Given the description of an element on the screen output the (x, y) to click on. 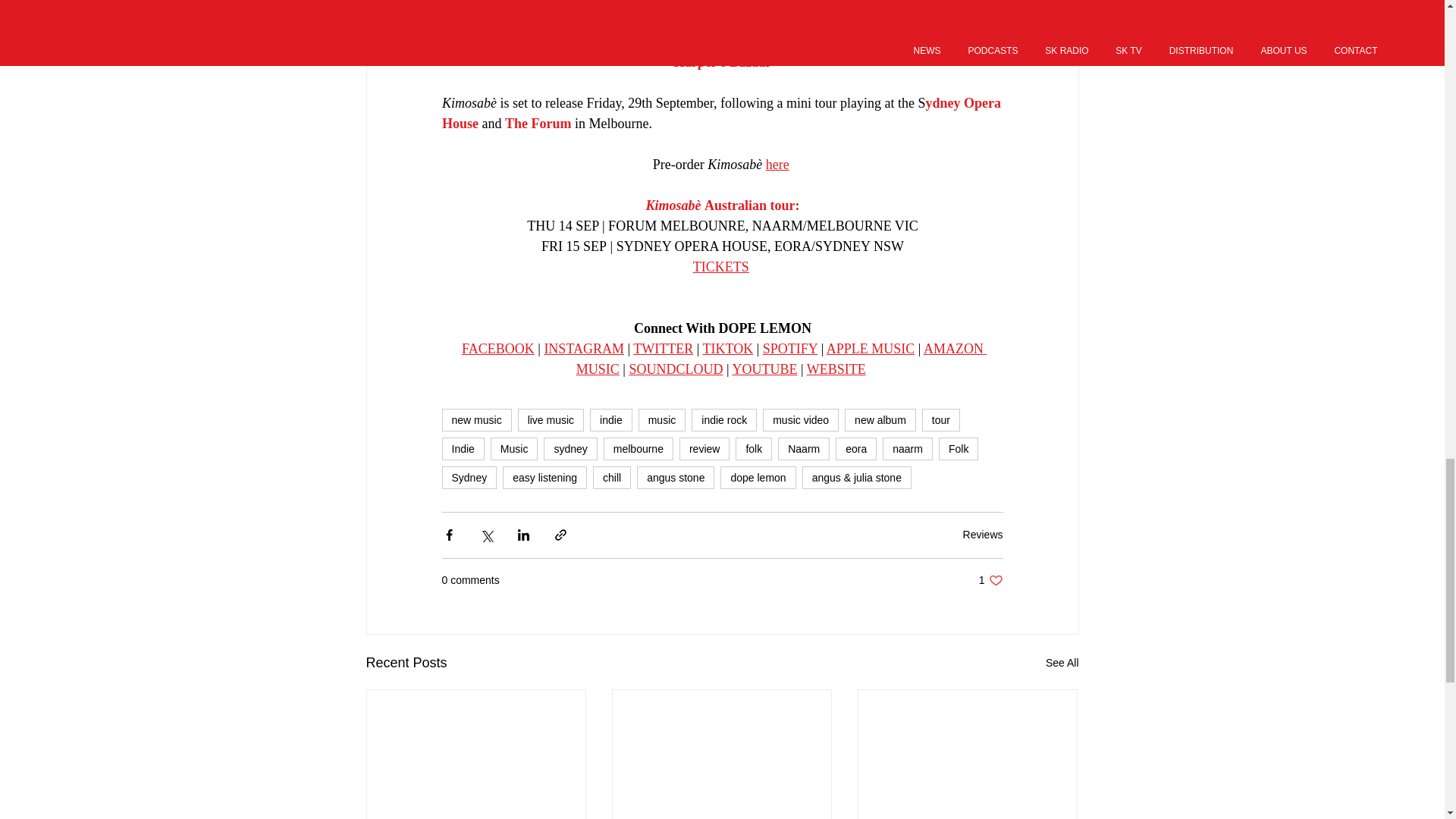
SOUNDCLOUD (675, 368)
TIKTOK (726, 348)
new music (476, 419)
SPOTIFY (788, 348)
INSTAGRAM (583, 348)
TWITTER (663, 348)
AMAZON MUSIC (781, 358)
music (662, 419)
WEBSITE (835, 368)
YOUTUBE (764, 368)
indie (610, 419)
live music (550, 419)
TICKETS (720, 266)
FACEBOOK (497, 348)
APPLE MUSIC (869, 348)
